Given the description of an element on the screen output the (x, y) to click on. 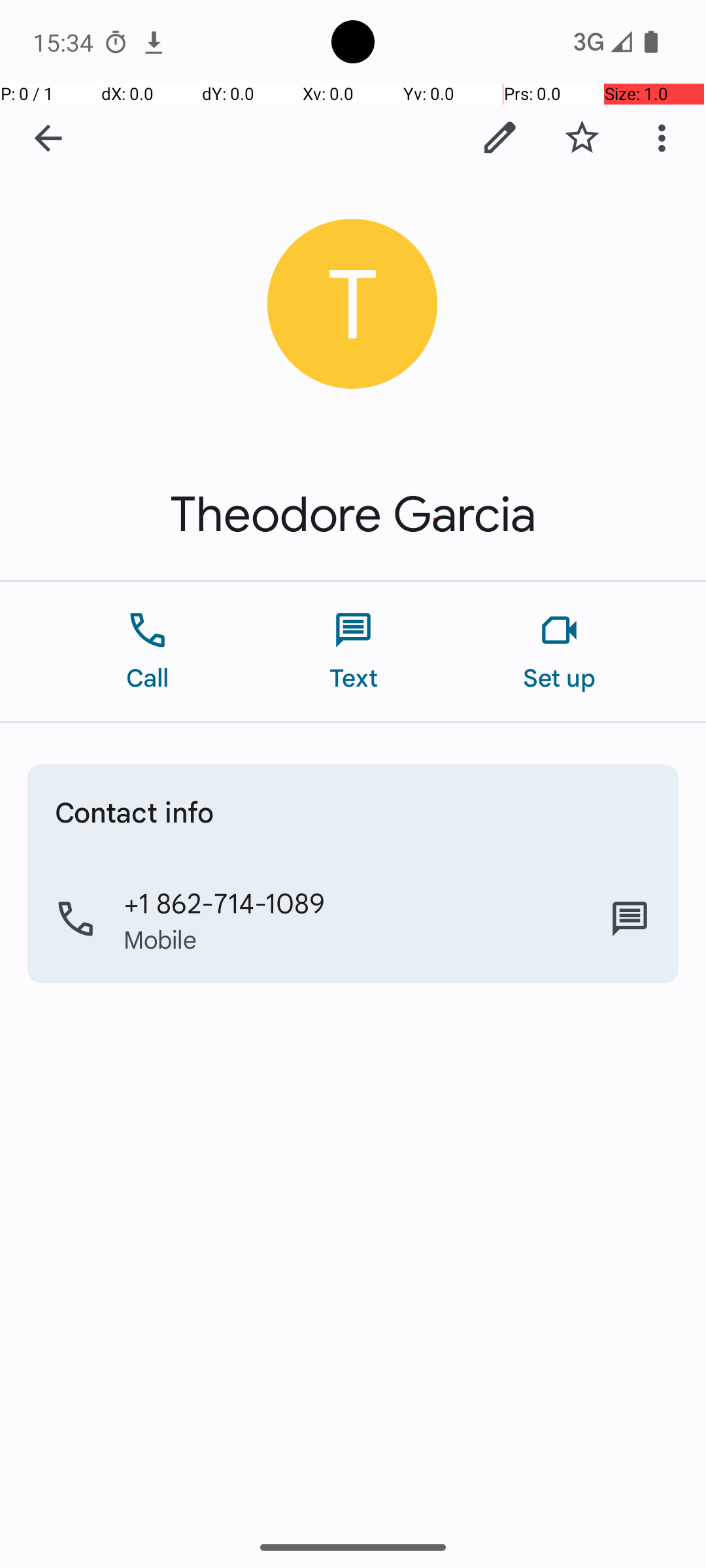
Theodore Garcia Element type: android.widget.TextView (352, 514)
Call Mobile +1 862-714-1089 Element type: android.widget.RelativeLayout (352, 919)
+1 862-714-1089 Element type: android.widget.TextView (224, 901)
Text Mobile +1 862-714-1089 Element type: android.widget.Button (629, 919)
Chrome notification: m.youtube.com Element type: android.widget.ImageView (153, 41)
